Given the description of an element on the screen output the (x, y) to click on. 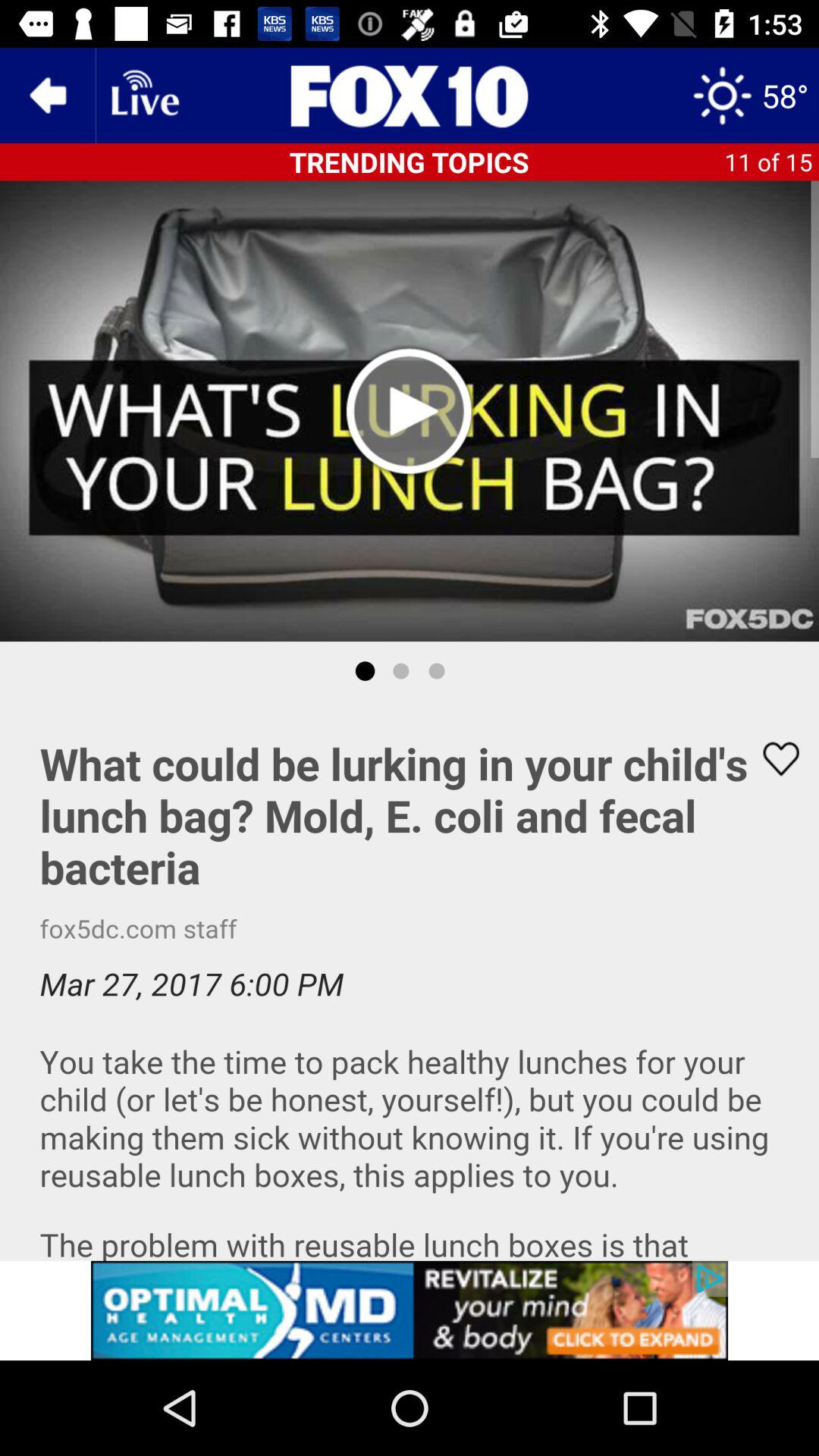
fox10 home page (409, 95)
